Given the description of an element on the screen output the (x, y) to click on. 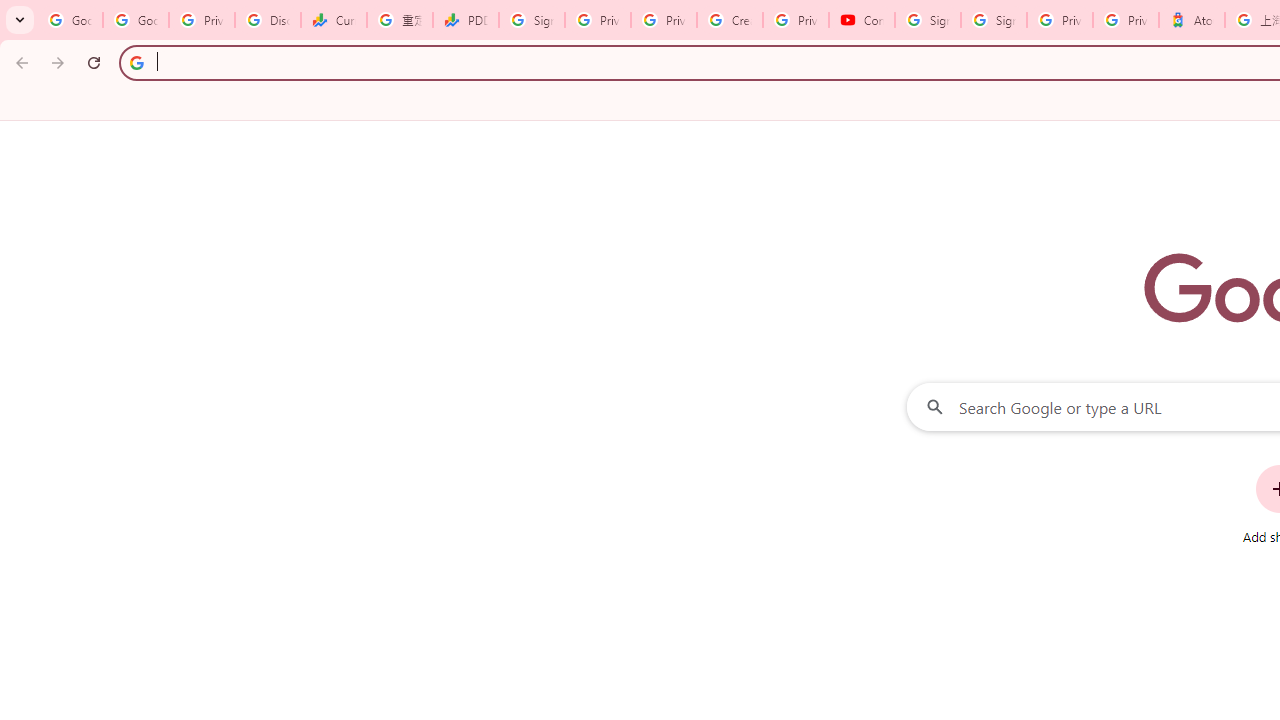
Sign in - Google Accounts (993, 20)
Privacy Checkup (664, 20)
Atour Hotel - Google hotels (1191, 20)
